Given the description of an element on the screen output the (x, y) to click on. 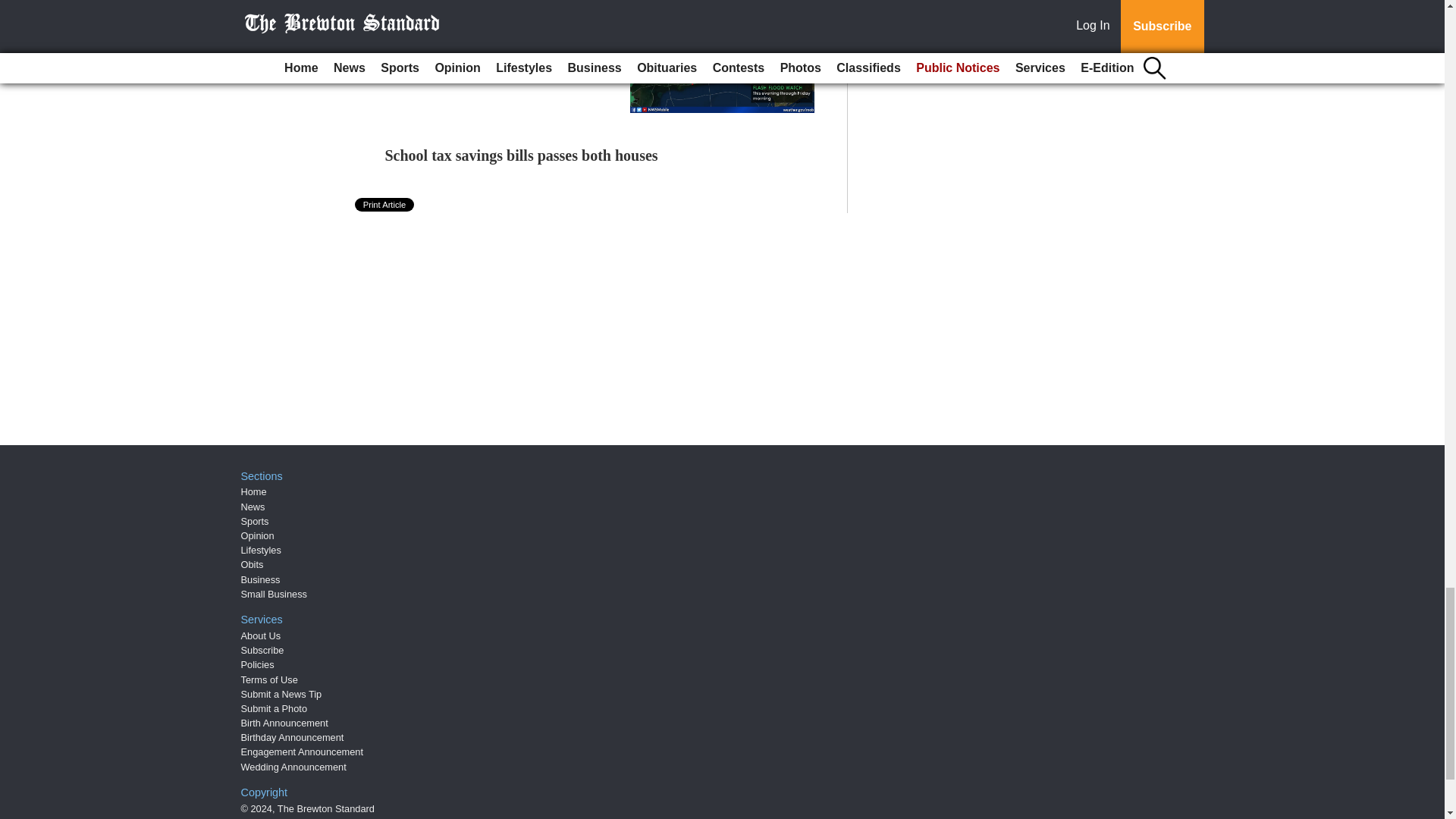
Print Article (384, 204)
Flash flood watch issued for area until Friday (491, 5)
Flash flood watch issued for area until Friday (491, 5)
School tax savings bills passes both houses (521, 155)
Home (253, 491)
School tax savings bills passes both houses (521, 155)
